Given the description of an element on the screen output the (x, y) to click on. 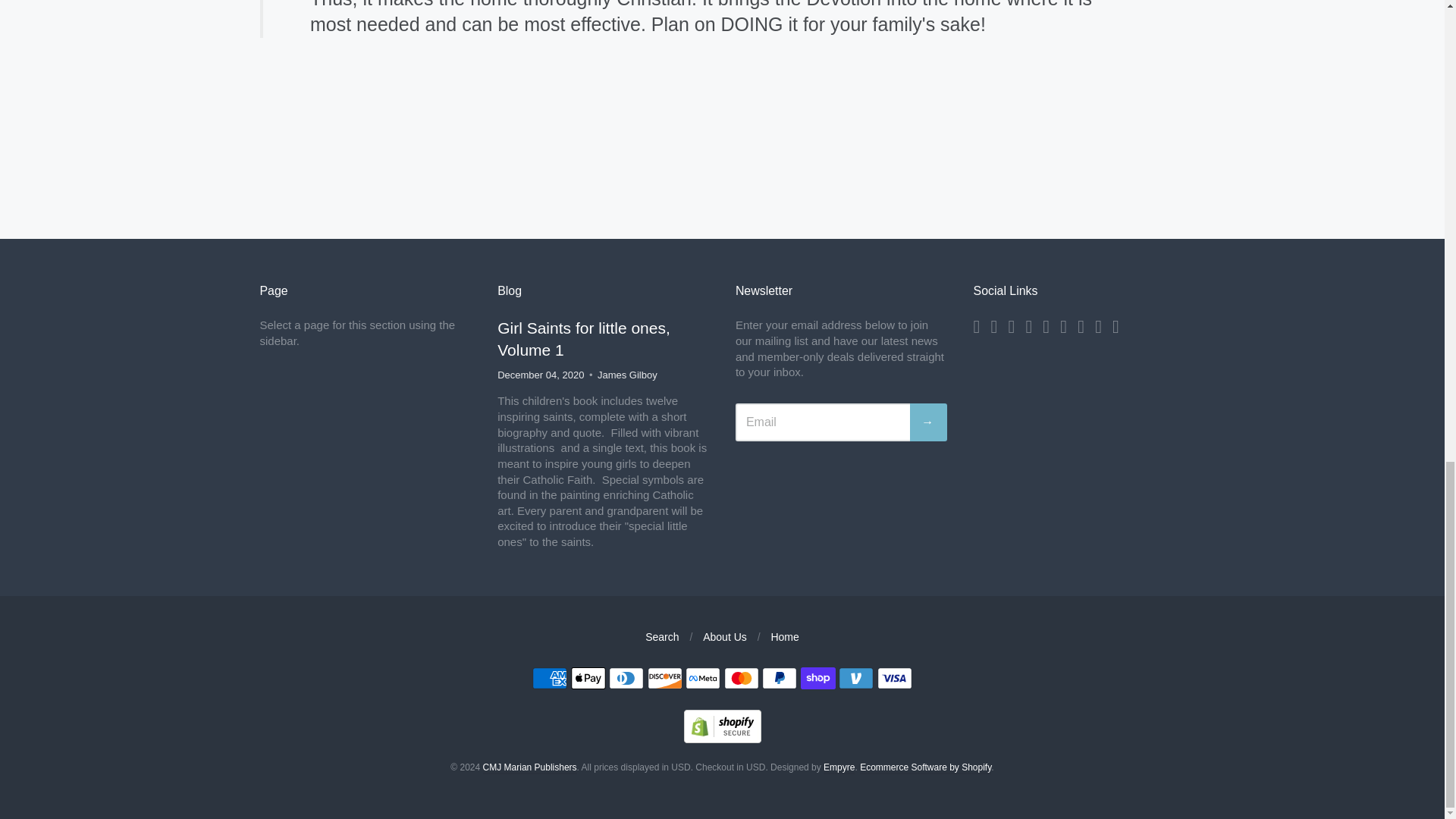
Girl Saints for little ones, Volume 1 (583, 338)
About Us (724, 636)
Home (783, 636)
This online store is secured by Shopify (722, 738)
CMJ Marian Publishers (529, 767)
Discover (664, 678)
Shop Pay (817, 678)
Visa (894, 678)
American Express (549, 678)
Meta Pay (702, 678)
